Given the description of an element on the screen output the (x, y) to click on. 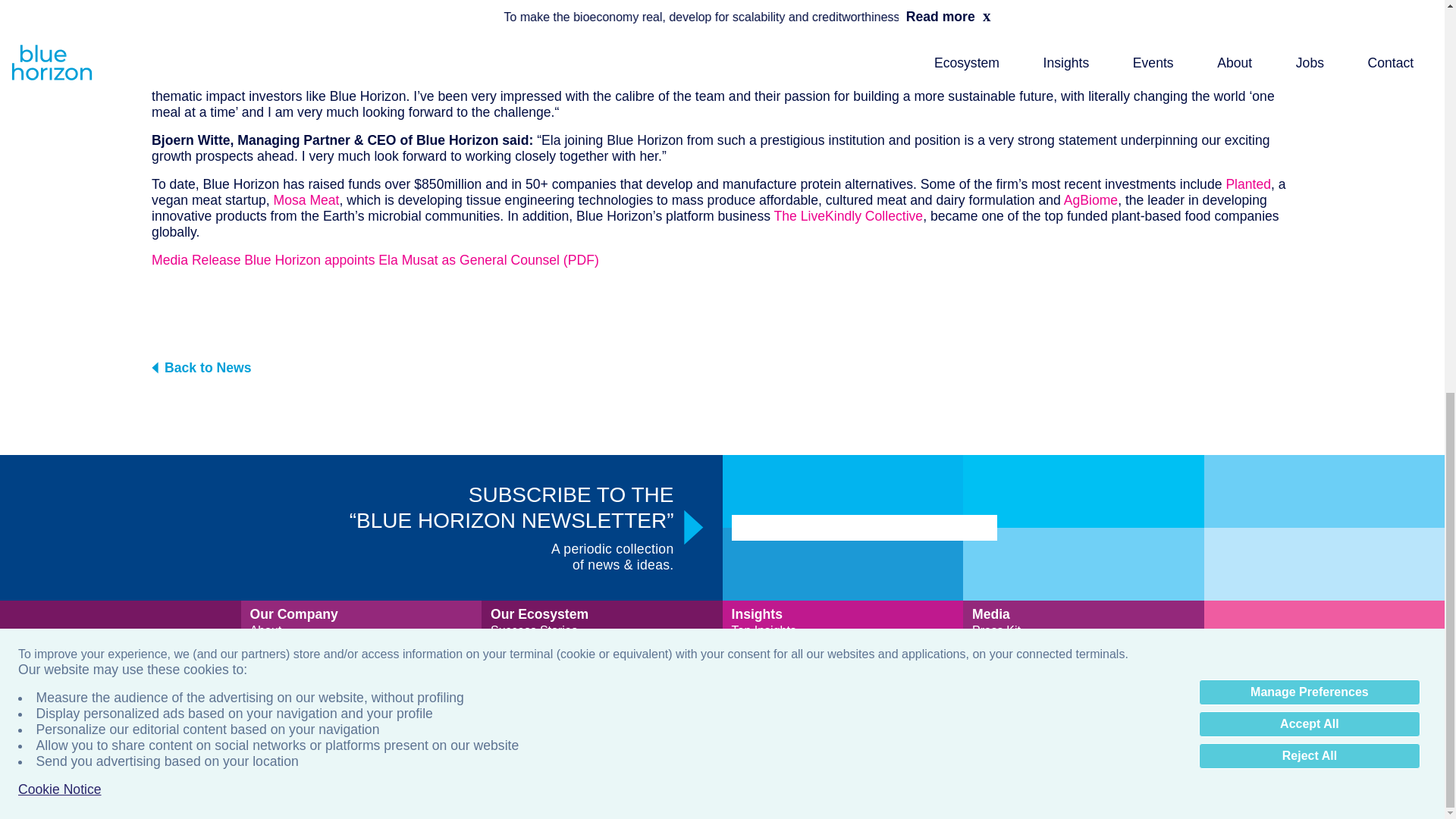
Success Stories (534, 630)
Contact (271, 693)
Careers (272, 678)
Back to News (721, 367)
About (266, 630)
AgBiome (1091, 200)
Mosa Meat (306, 200)
The LiveKindly Collective (848, 215)
Approach (276, 662)
Top Insights (762, 630)
